Given the description of an element on the screen output the (x, y) to click on. 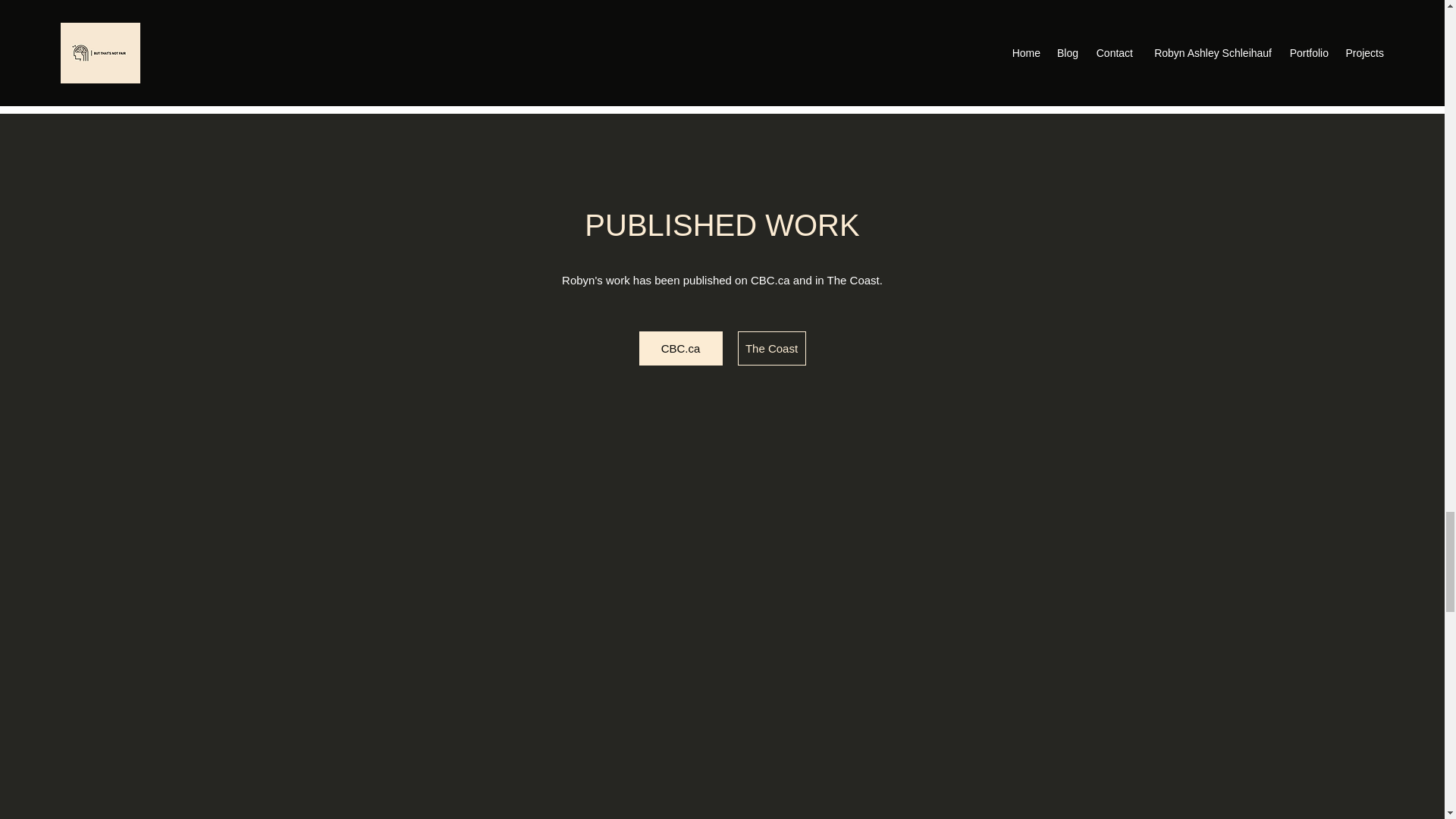
CBC.ca (680, 348)
The Coast (770, 348)
